Given the description of an element on the screen output the (x, y) to click on. 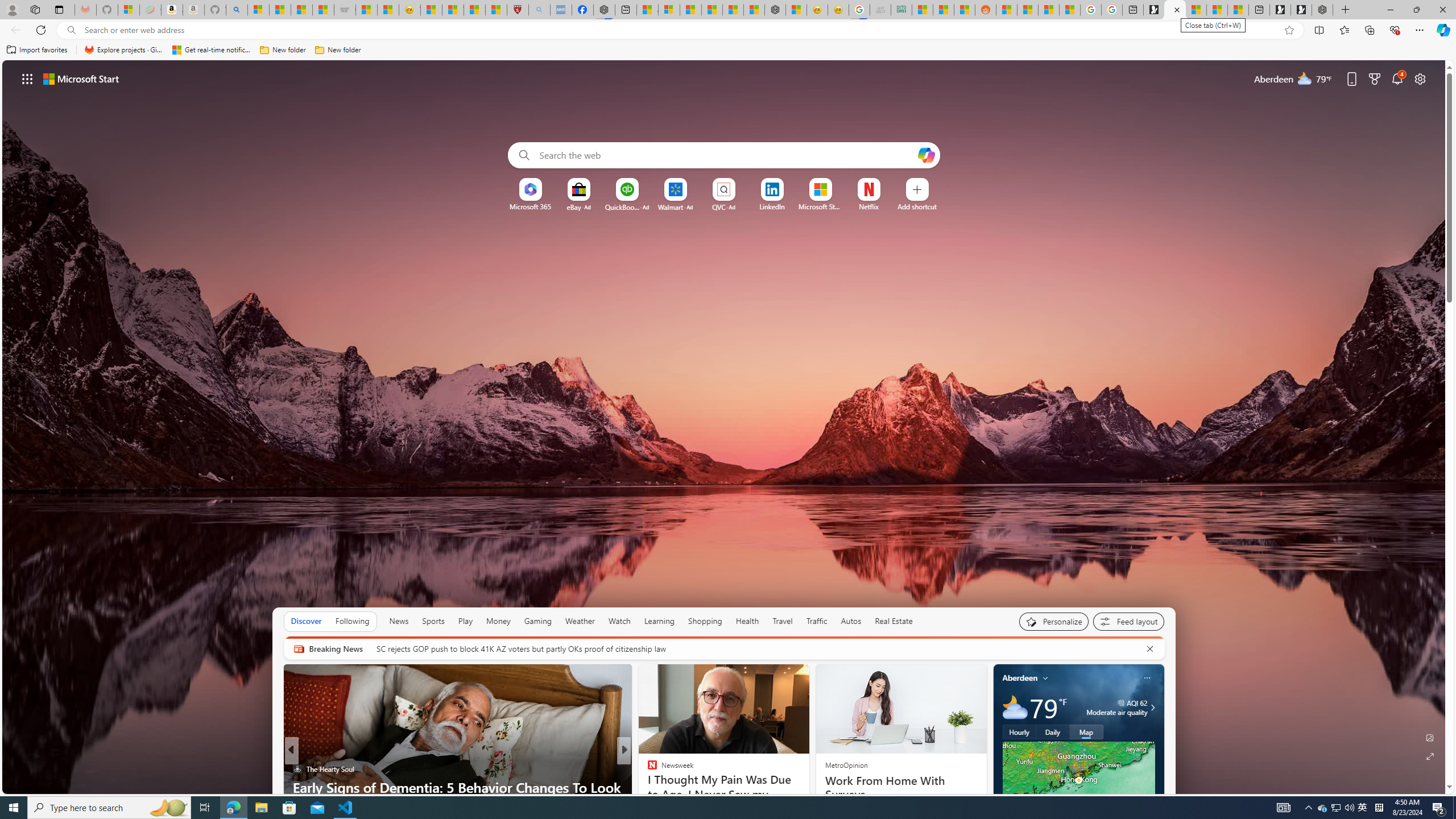
AskThis (647, 786)
Edit Background (1430, 737)
Map (1085, 731)
